Given the description of an element on the screen output the (x, y) to click on. 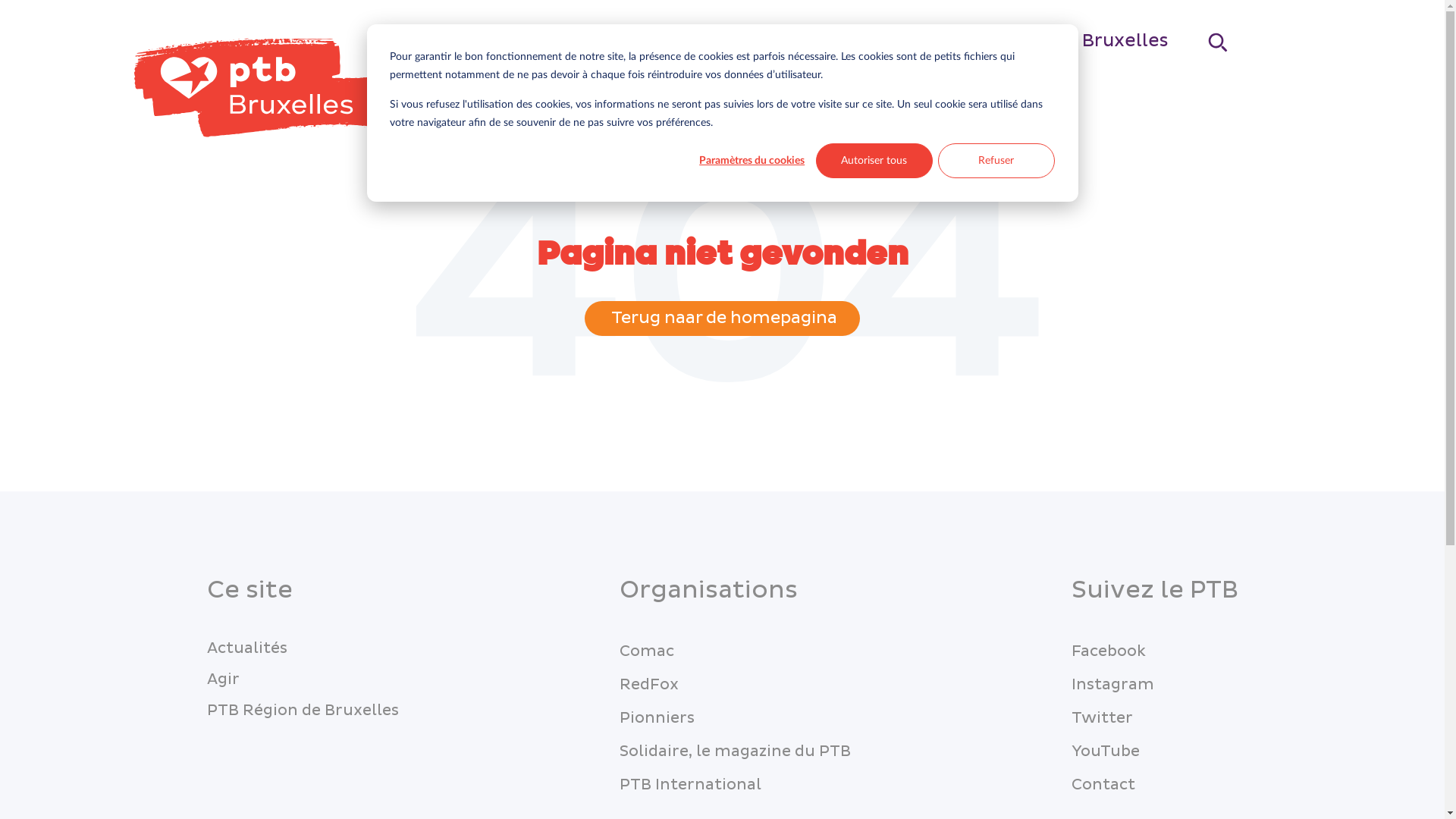
Pionniers Element type: text (655, 718)
Autoriser tous Element type: text (873, 160)
PTB International Element type: text (689, 784)
 Terug naar de homepagina Element type: text (721, 318)
Solidaire, le magazine du PTB Element type: text (734, 751)
Comac Element type: text (645, 651)
Refuser Element type: text (996, 160)
Agir Element type: text (222, 679)
Agir Element type: text (893, 40)
RedFox Element type: text (647, 684)
Contact Element type: text (1102, 784)
Twitter Element type: text (1101, 718)
YouTube Element type: text (1104, 751)
Instagram Element type: text (1111, 684)
Facebook Element type: text (1107, 651)
